Given the description of an element on the screen output the (x, y) to click on. 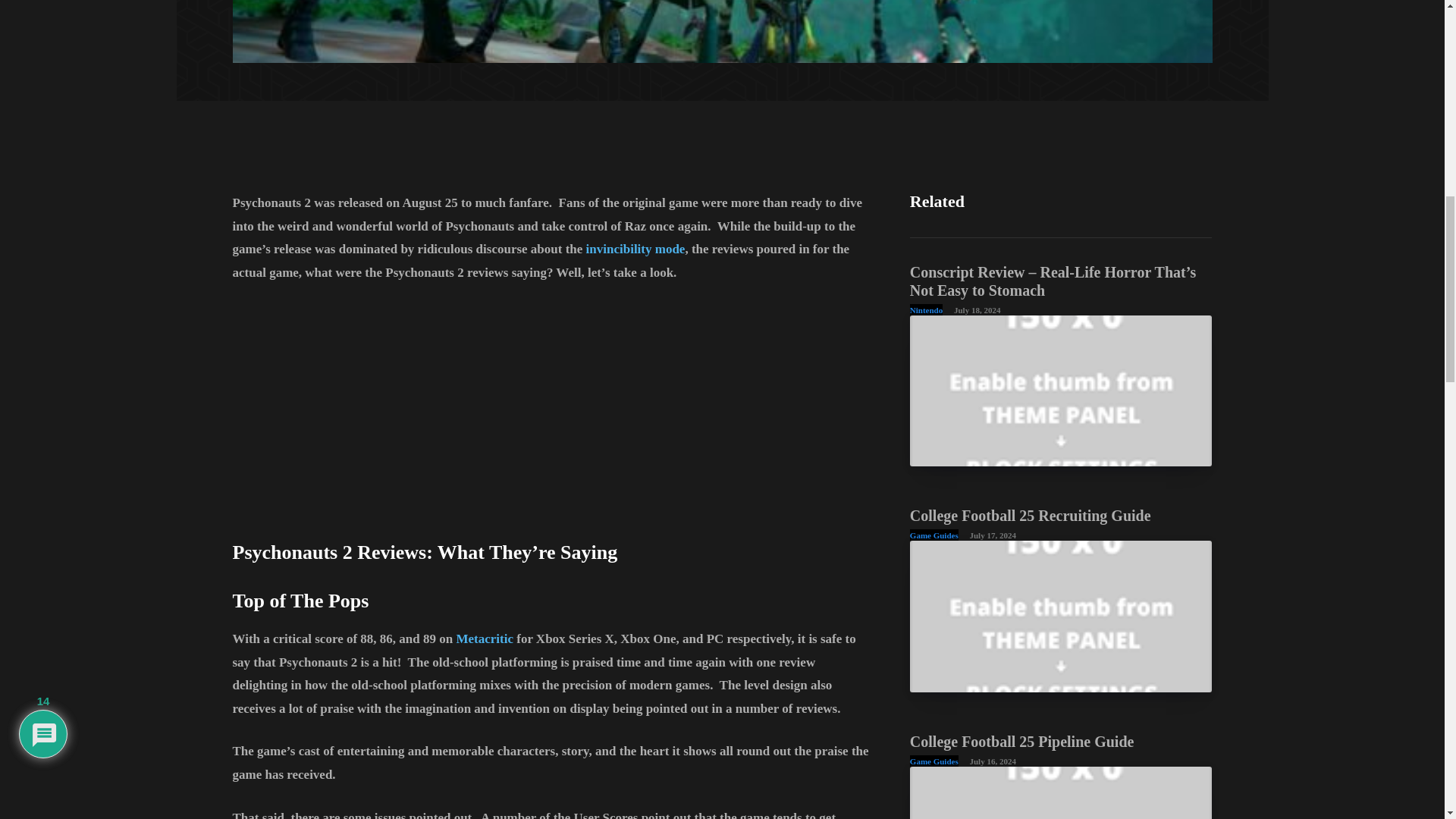
College Football 25 Pipeline Guide (1061, 792)
Game Guides (934, 760)
Game Guides (934, 534)
Metacritic (484, 638)
College Football 25 Pipeline Guide (1022, 741)
College Football 25 Pipeline Guide (1022, 741)
Nintendo (926, 309)
invincibility mode (635, 248)
College Football 25 Recruiting Guide (1030, 515)
College Football 25 Recruiting Guide (1030, 515)
College Football 25 Recruiting Guide (1061, 615)
